Given the description of an element on the screen output the (x, y) to click on. 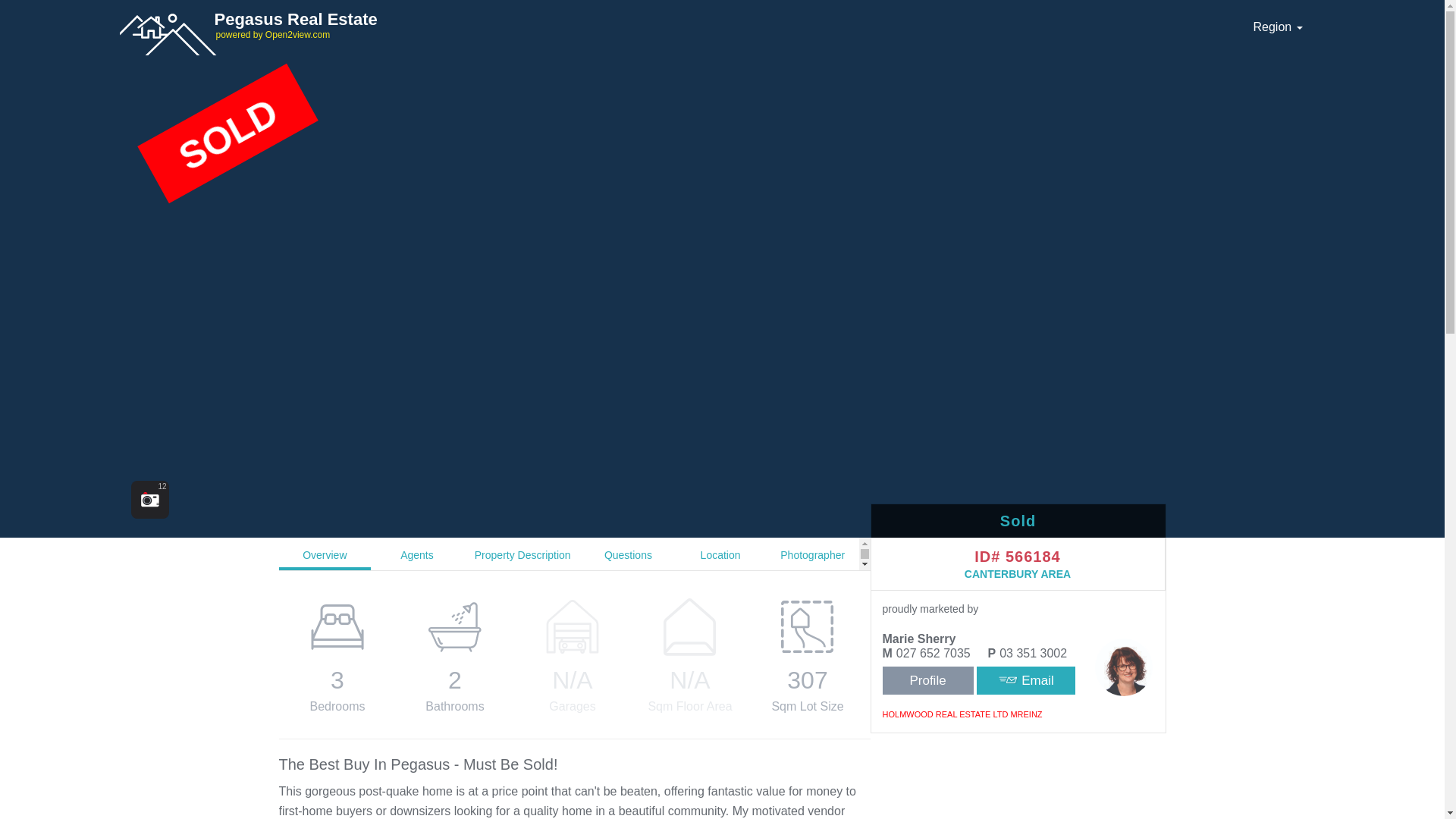
Pegasus Real Estate (676, 24)
